Given the description of an element on the screen output the (x, y) to click on. 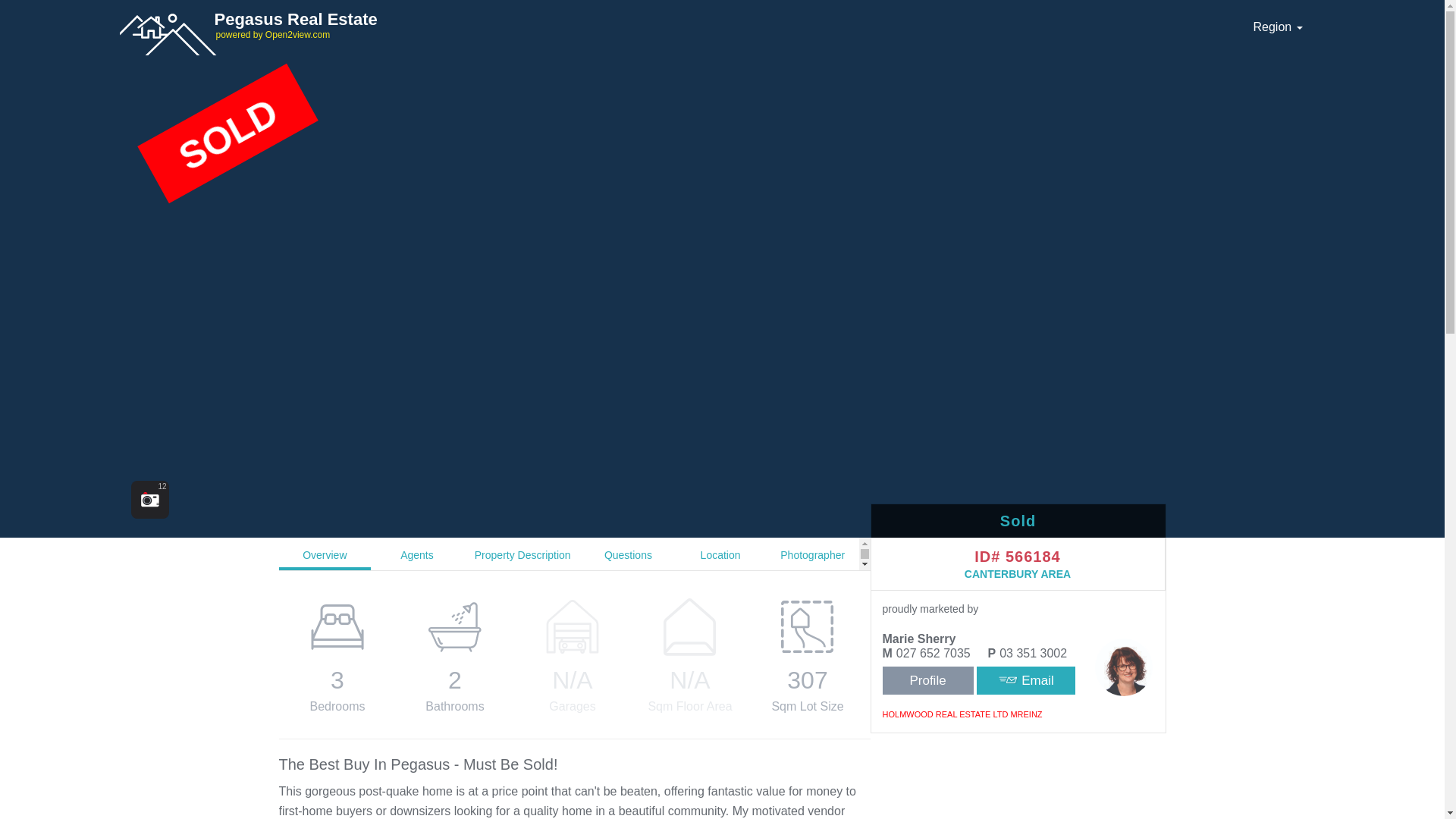
Pegasus Real Estate (676, 24)
